Given the description of an element on the screen output the (x, y) to click on. 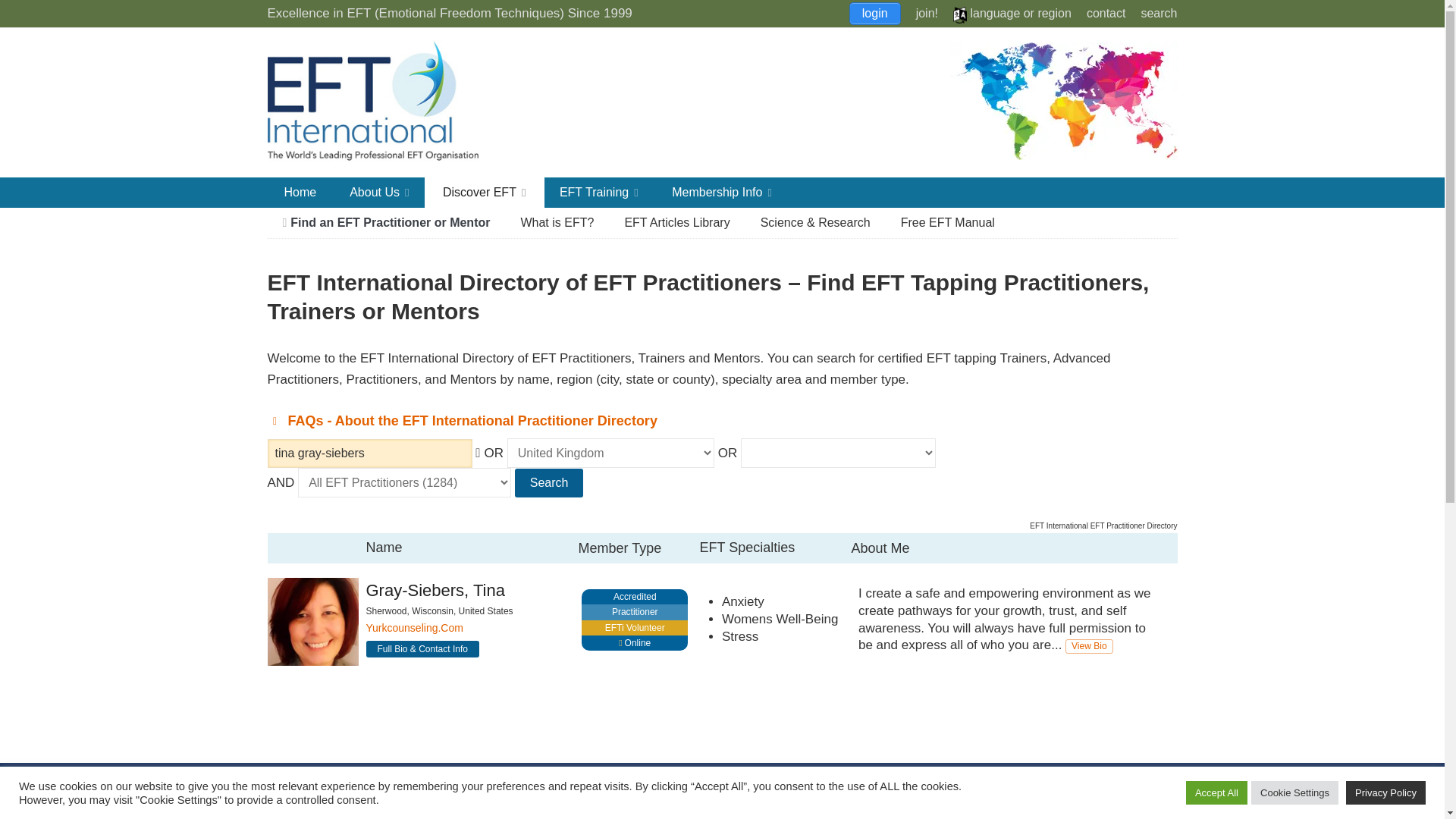
Discover EFT (484, 192)
Home (299, 192)
login (874, 13)
EFT Articles Library (676, 223)
language or region (1012, 12)
EFT International (387, 102)
Find an EFT Practitioner or Mentor (385, 223)
search (1158, 12)
contact (1105, 12)
tina gray-siebers (368, 452)
What is EFT? (556, 223)
Free EFT Manual (947, 223)
EFT Training (598, 192)
About Us (379, 192)
join! (926, 12)
